Given the description of an element on the screen output the (x, y) to click on. 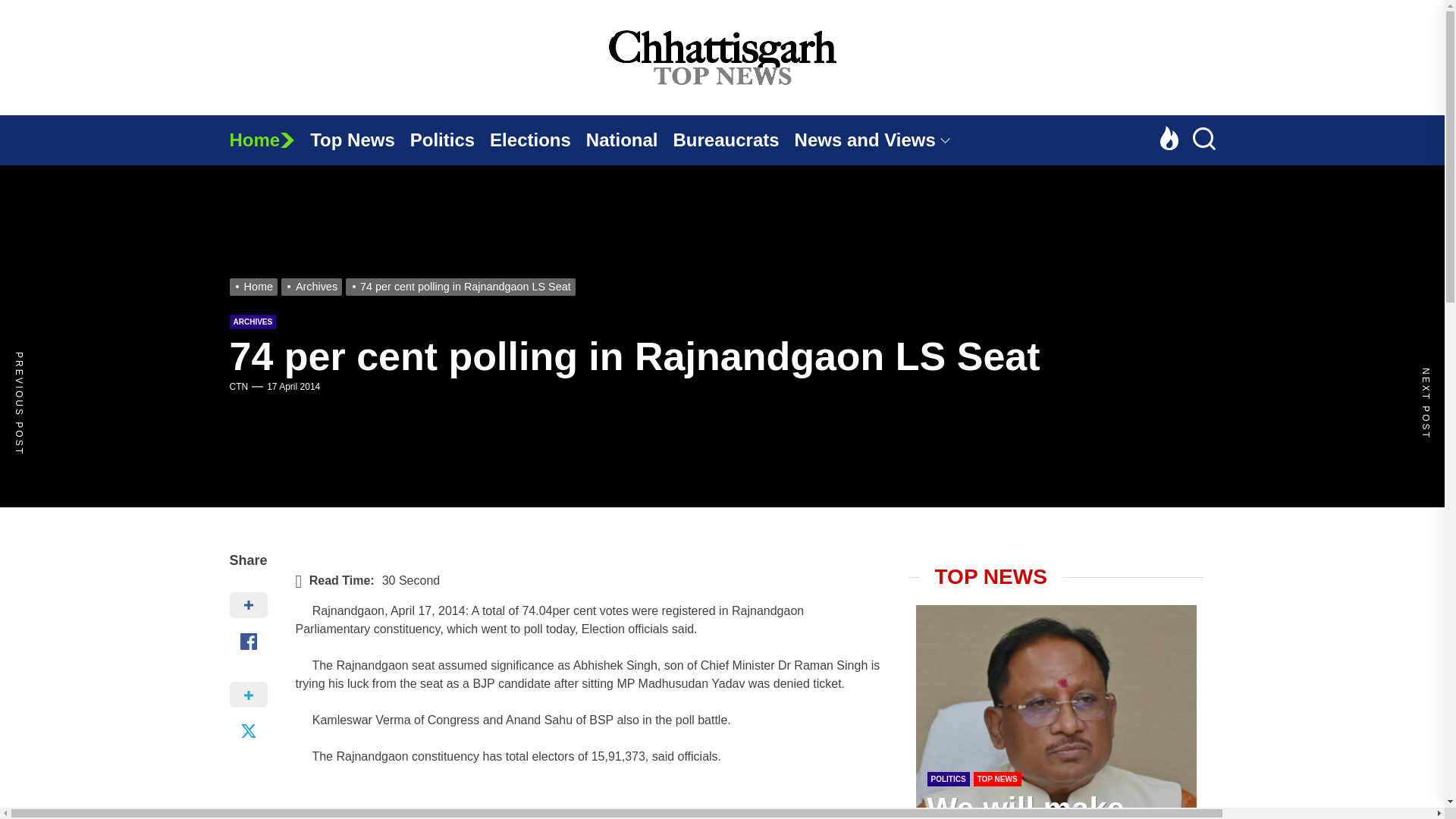
Politics (449, 140)
Bureaucrats (733, 140)
National (629, 140)
We will make Chhattisgarh developed by 2047: CM Sai (1027, 805)
Home (269, 140)
ChhattisgarhTopNews.Com (1032, 135)
Elections (537, 140)
Home (269, 140)
News and Views (880, 140)
Top News (360, 140)
